Given the description of an element on the screen output the (x, y) to click on. 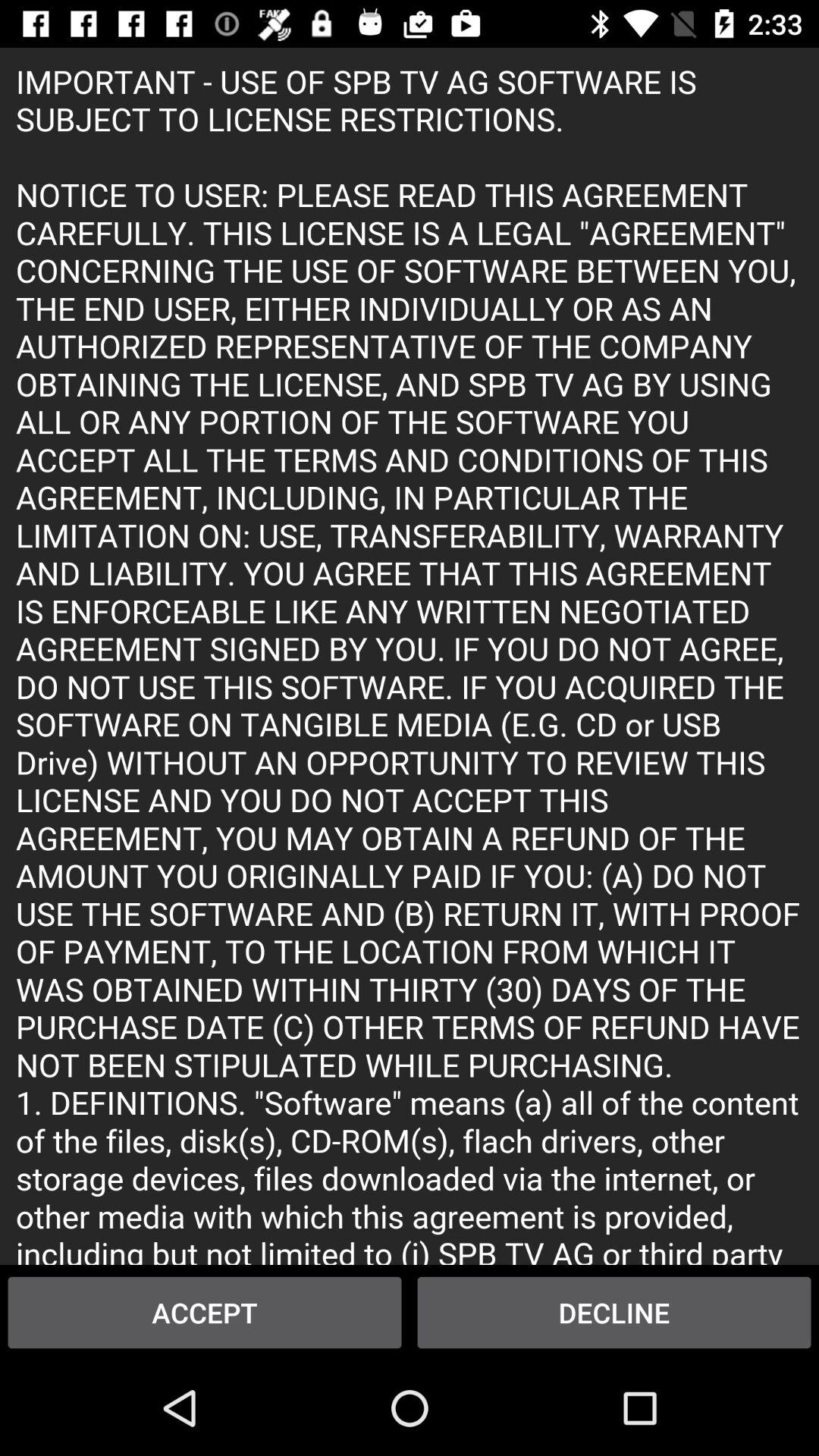
select the icon at the center (409, 655)
